Given the description of an element on the screen output the (x, y) to click on. 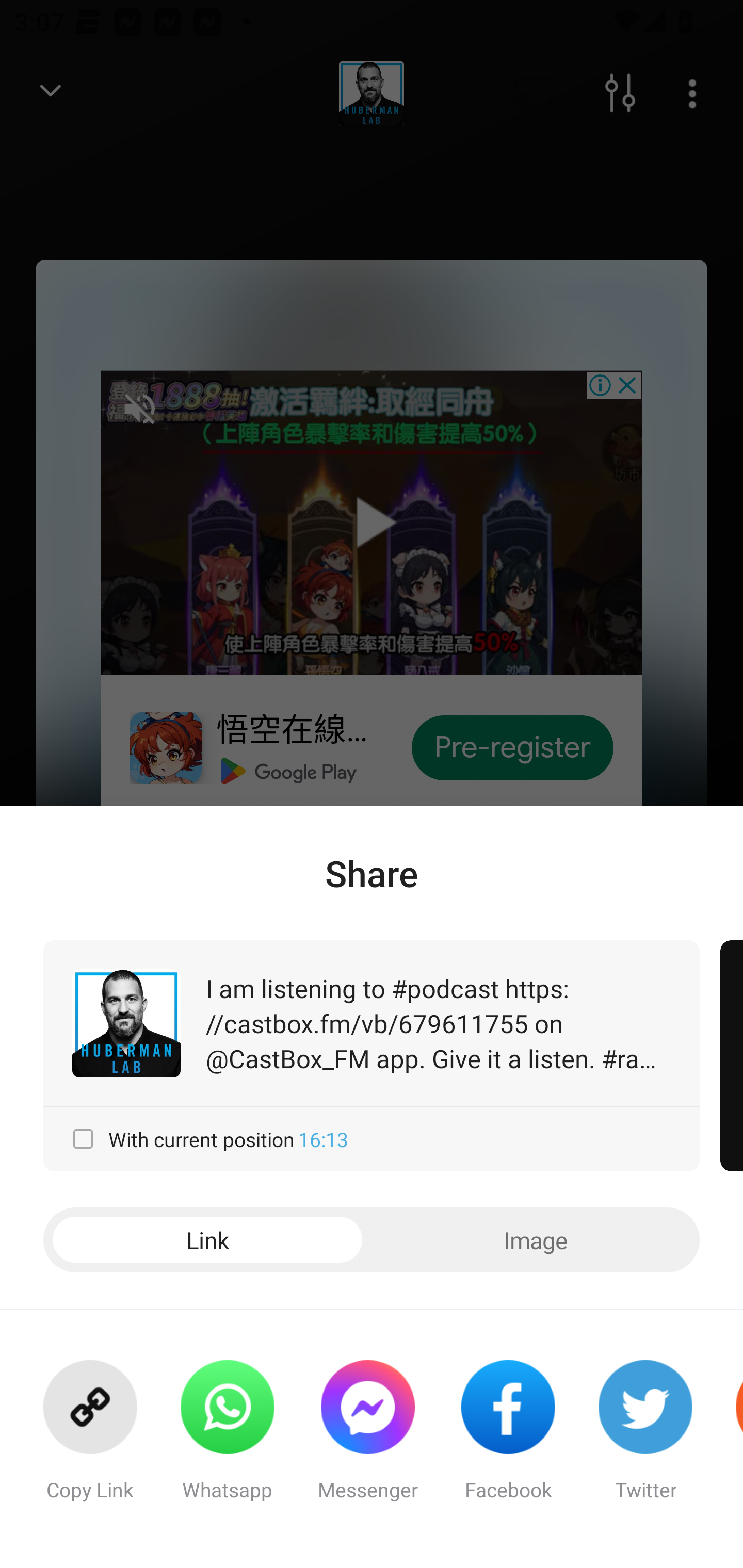
With current position 16:13 (371, 1138)
Link (207, 1240)
Image (535, 1240)
Copy Link (90, 1438)
Whatsapp (227, 1438)
Messenger (367, 1438)
Facebook (508, 1438)
Twitter (645, 1438)
